Given the description of an element on the screen output the (x, y) to click on. 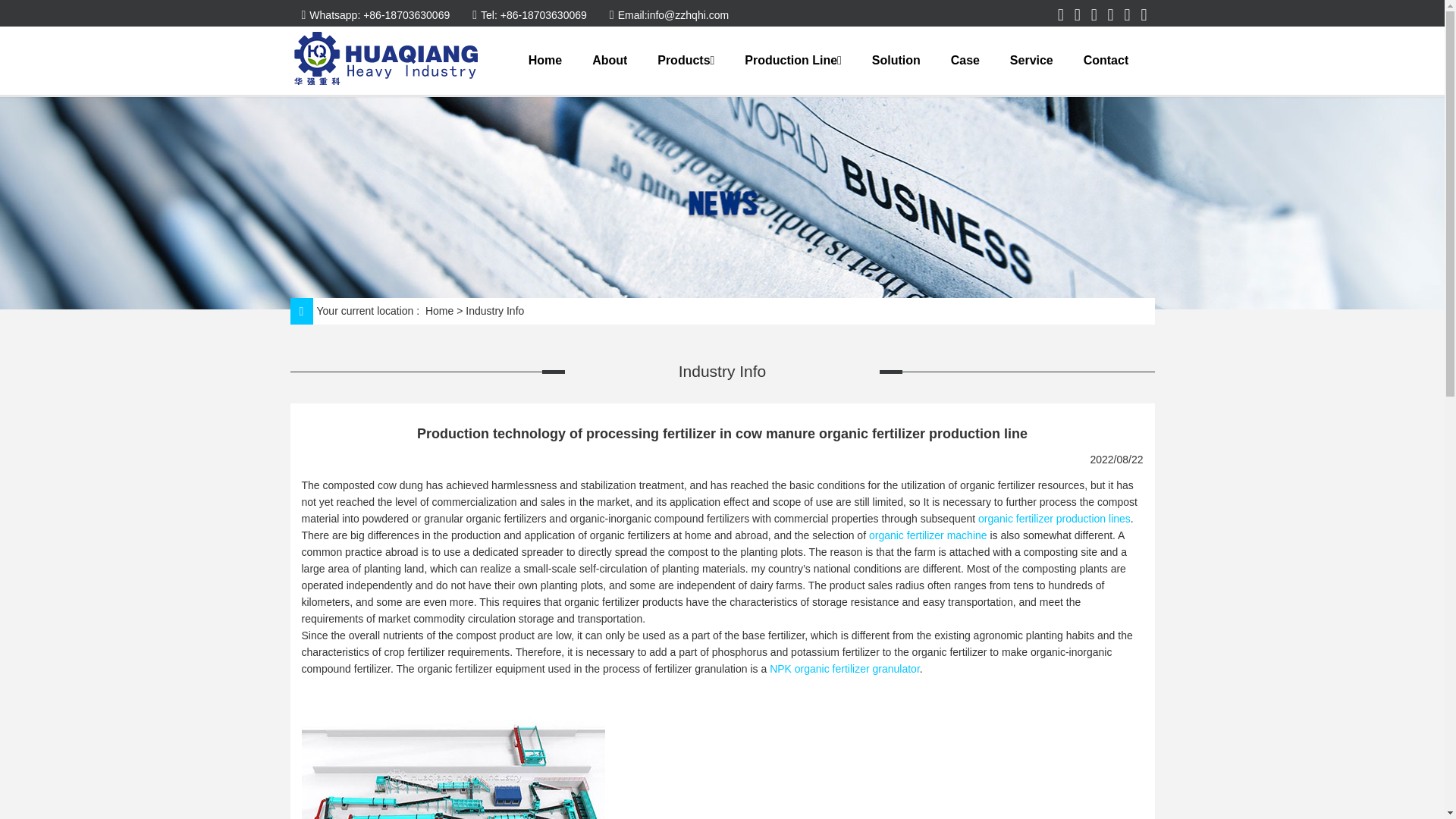
Industry Info (494, 311)
organic fertilizer production lines (1054, 518)
Home (438, 311)
Production Line (792, 60)
logo (387, 59)
